Given the description of an element on the screen output the (x, y) to click on. 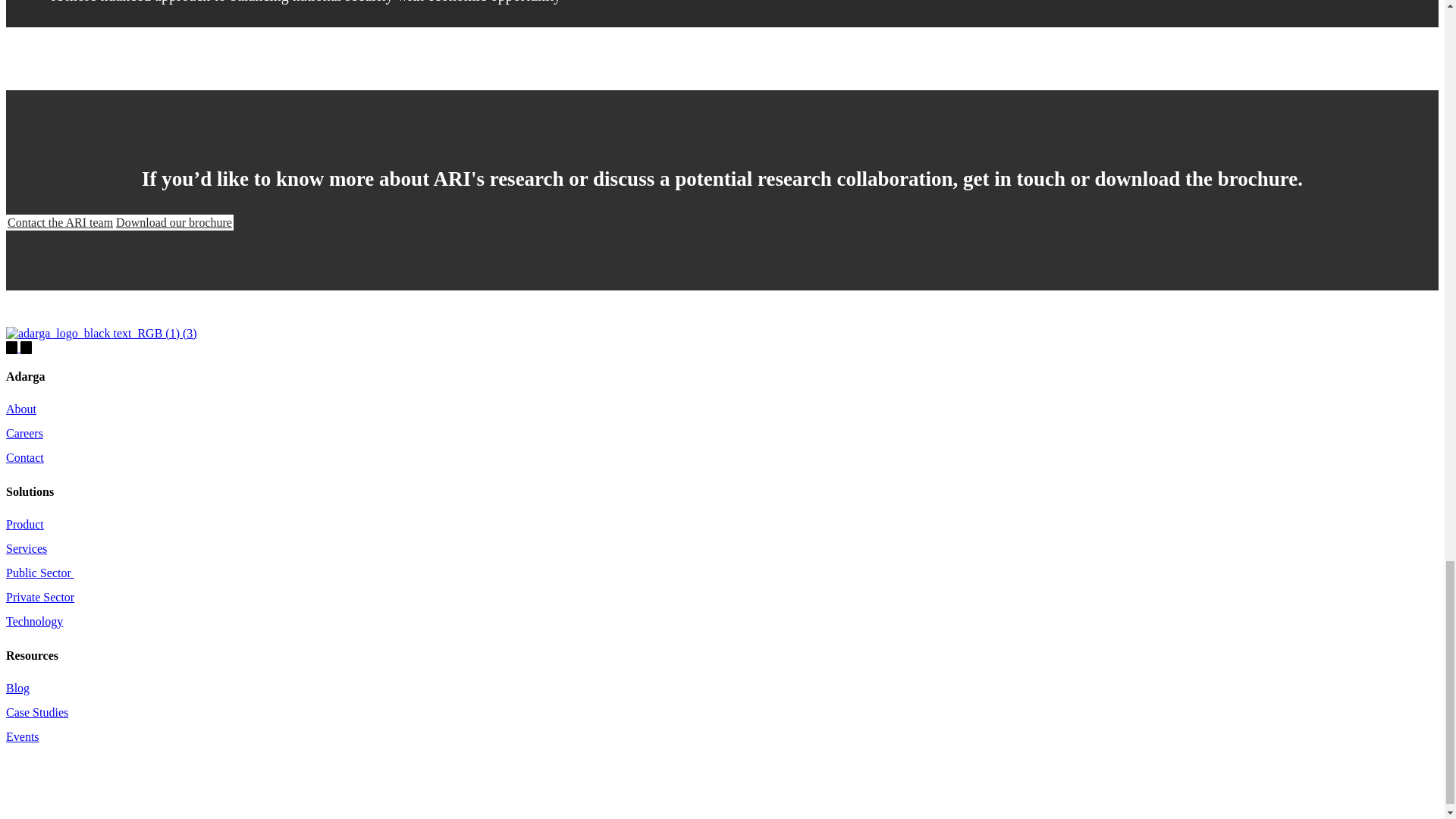
Contact the ARI team (60, 222)
linkedin-in icon (11, 346)
Download our brochure (173, 222)
twitter icon (26, 346)
linkedin-in icon (12, 347)
